Given the description of an element on the screen output the (x, y) to click on. 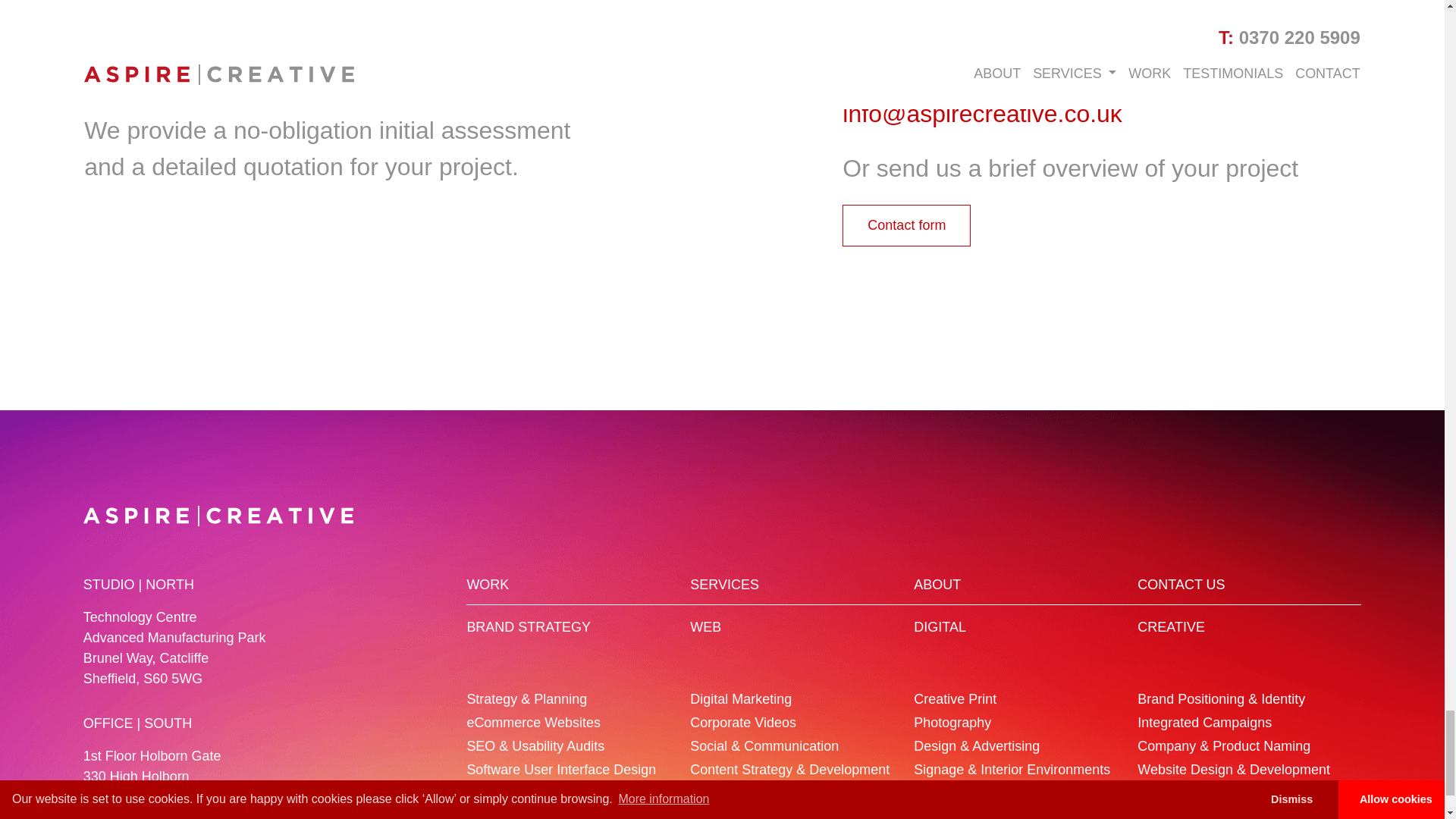
ABOUT (937, 584)
WORK (486, 584)
0370 2205909 (920, 22)
Contact form (907, 225)
SERVICES (724, 584)
WEB (705, 626)
DIGITAL (940, 626)
CREATIVE (1171, 626)
BRAND STRATEGY (528, 626)
CONTACT US (1180, 584)
